Given the description of an element on the screen output the (x, y) to click on. 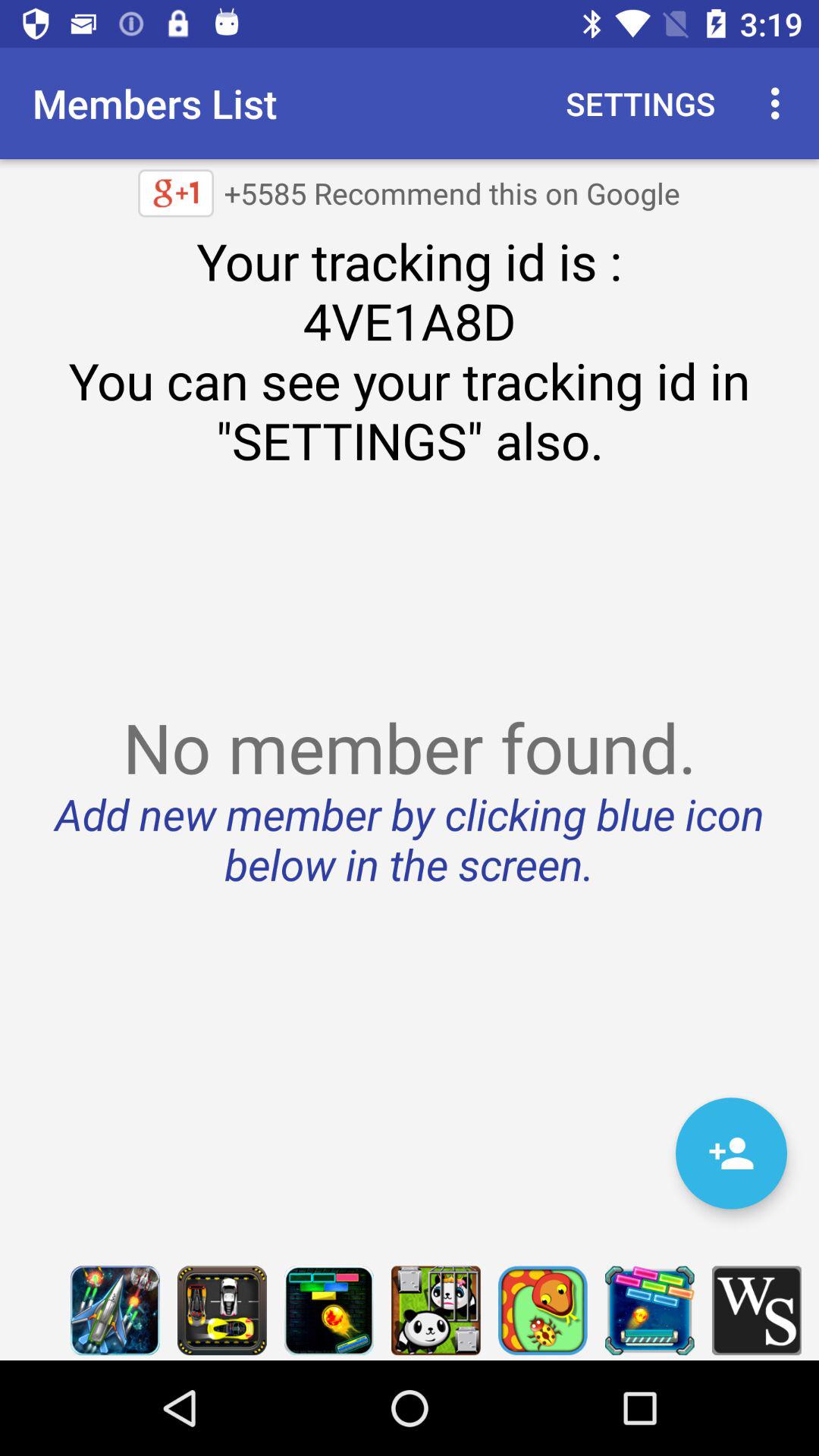
launch game (114, 1310)
